Given the description of an element on the screen output the (x, y) to click on. 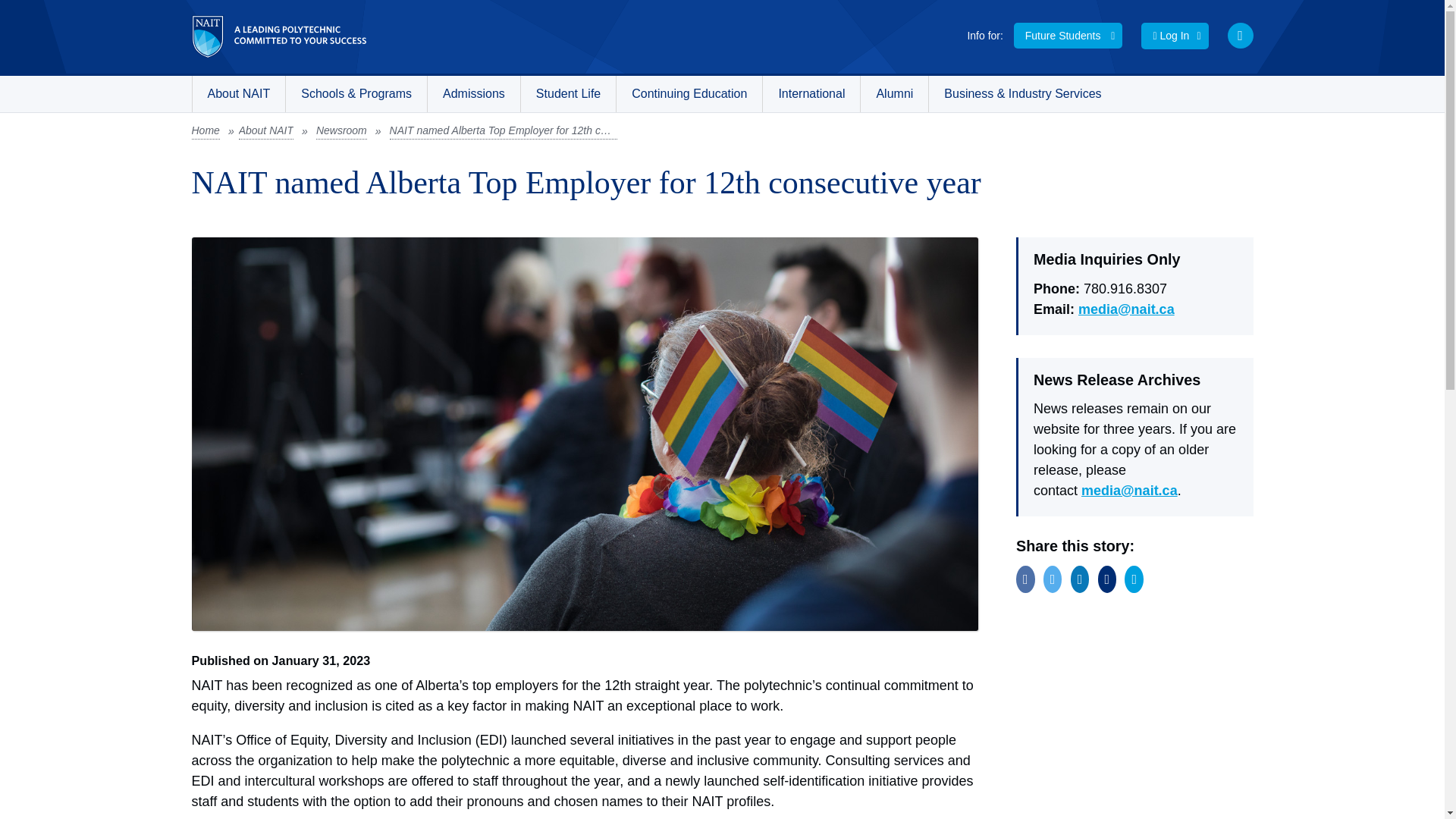
NAIT - A Leading Polytechnic Committed to Student Success (277, 36)
About NAIT (238, 94)
Future Students (1067, 35)
Log In (1174, 35)
